Given the description of an element on the screen output the (x, y) to click on. 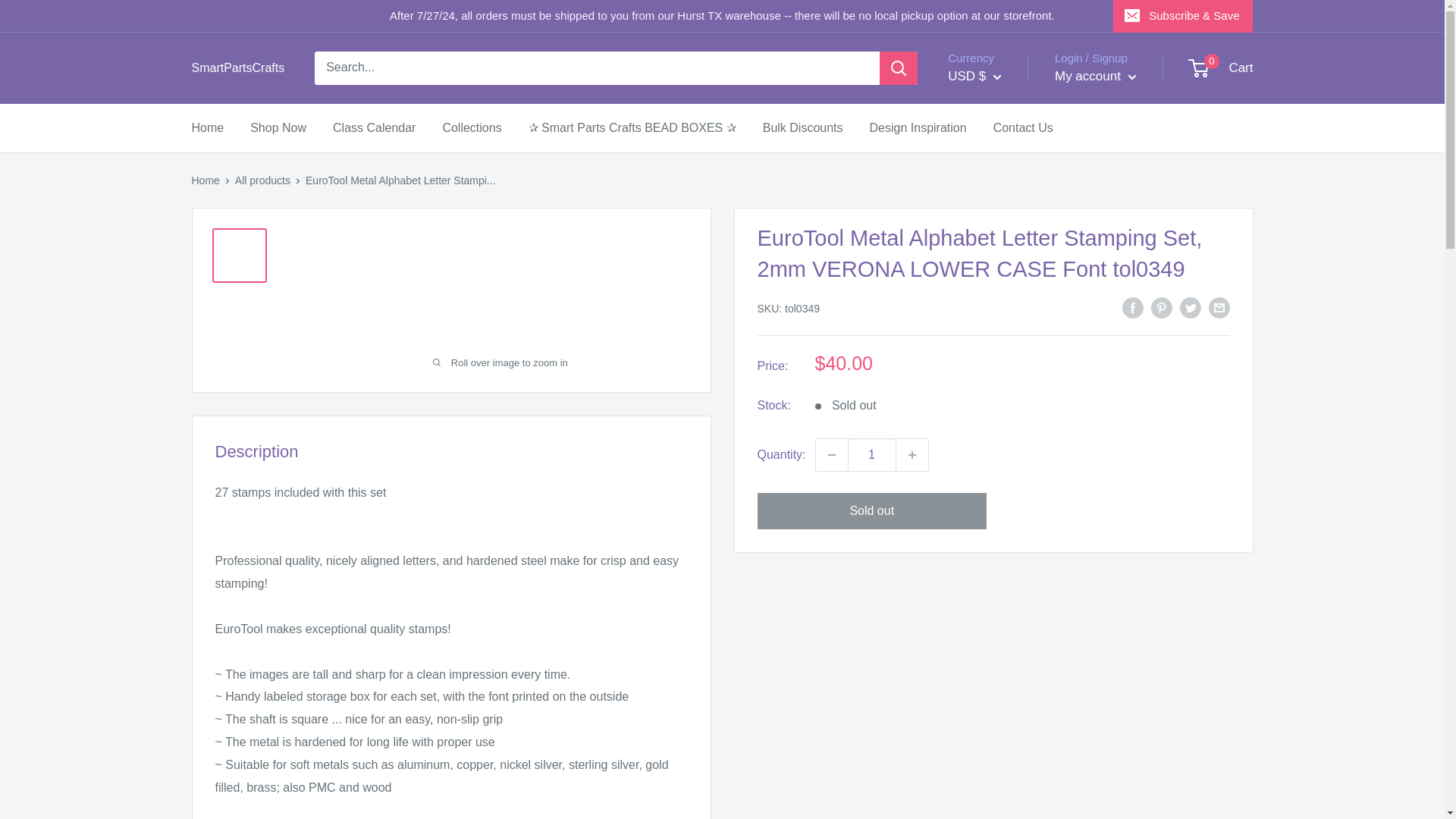
BAM (998, 438)
Decrease quantity by 1 (831, 454)
ANG (998, 346)
AMD (998, 323)
AUD (998, 370)
Increase quantity by 1 (912, 454)
BSD (998, 601)
AED (998, 253)
AWG (998, 392)
AFN (998, 276)
